Given the description of an element on the screen output the (x, y) to click on. 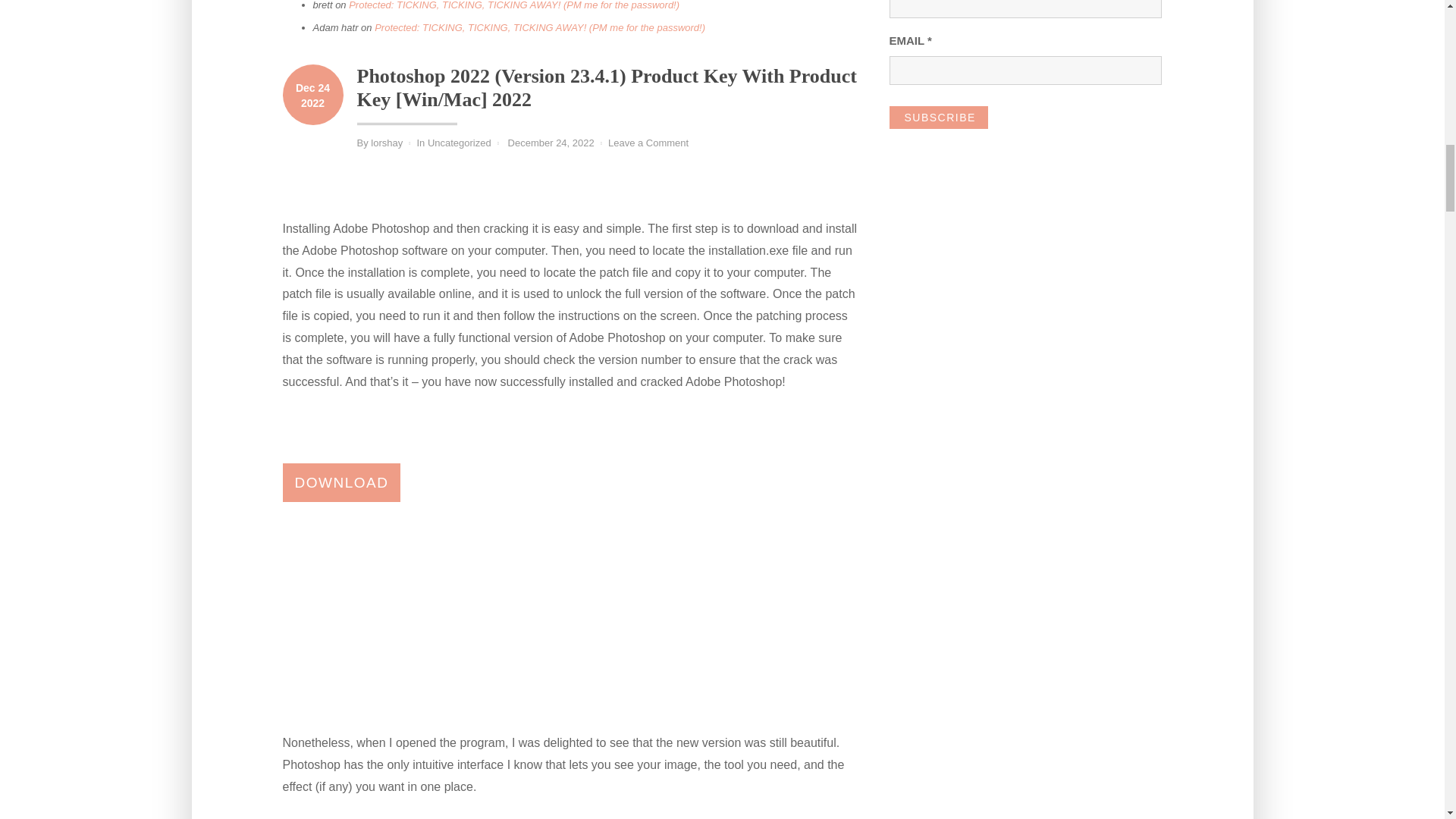
Uncategorized (460, 142)
DOWNLOAD (341, 482)
December 24, 2022 (551, 142)
Subscribe (937, 117)
lorshay (387, 142)
DOWNLOAD (341, 482)
